Given the description of an element on the screen output the (x, y) to click on. 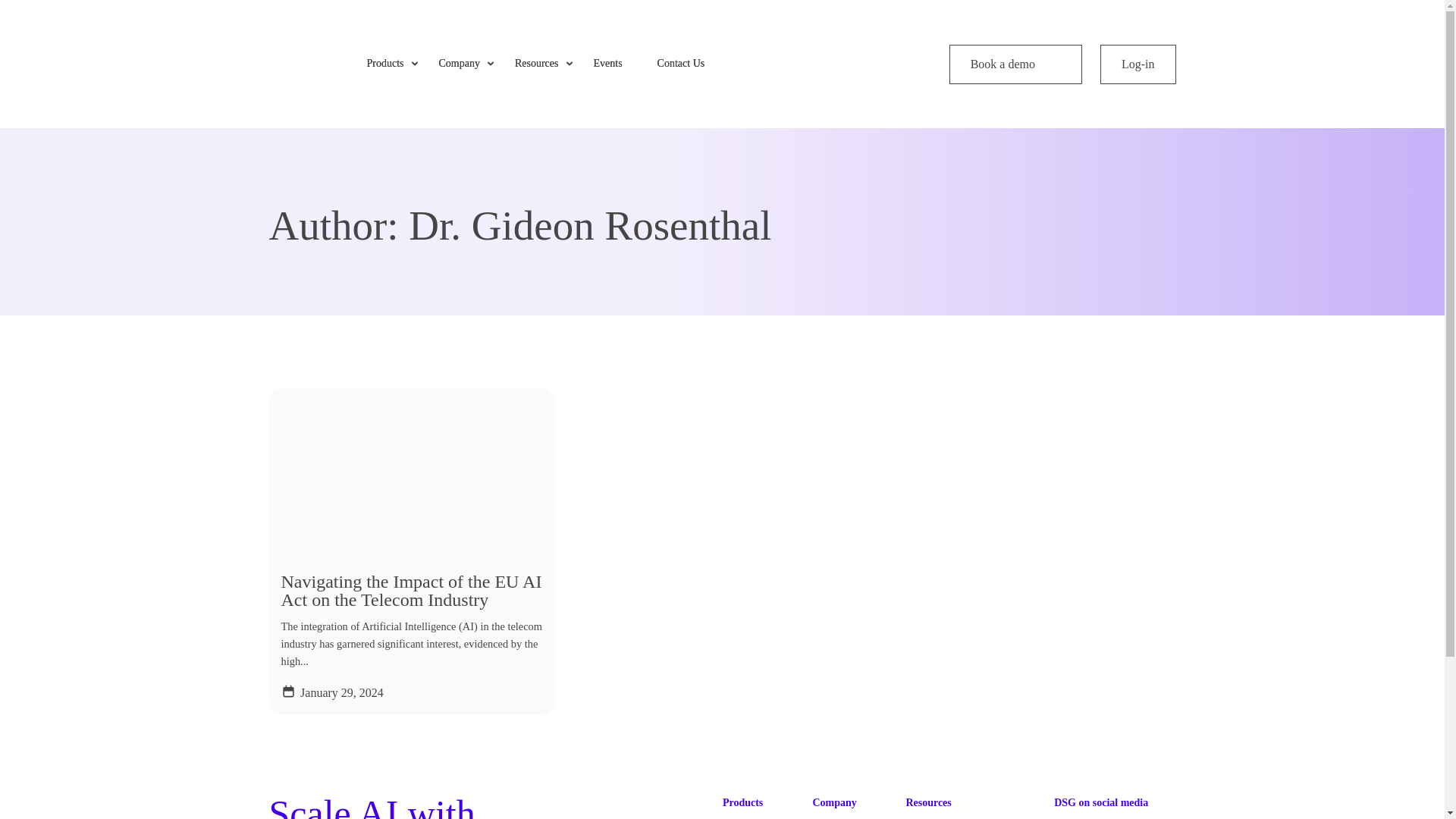
Company (463, 63)
Book a demo (1015, 63)
Events (611, 63)
Resources (542, 63)
Products (390, 63)
Log-in (1138, 63)
Contact Us (687, 63)
